Given the description of an element on the screen output the (x, y) to click on. 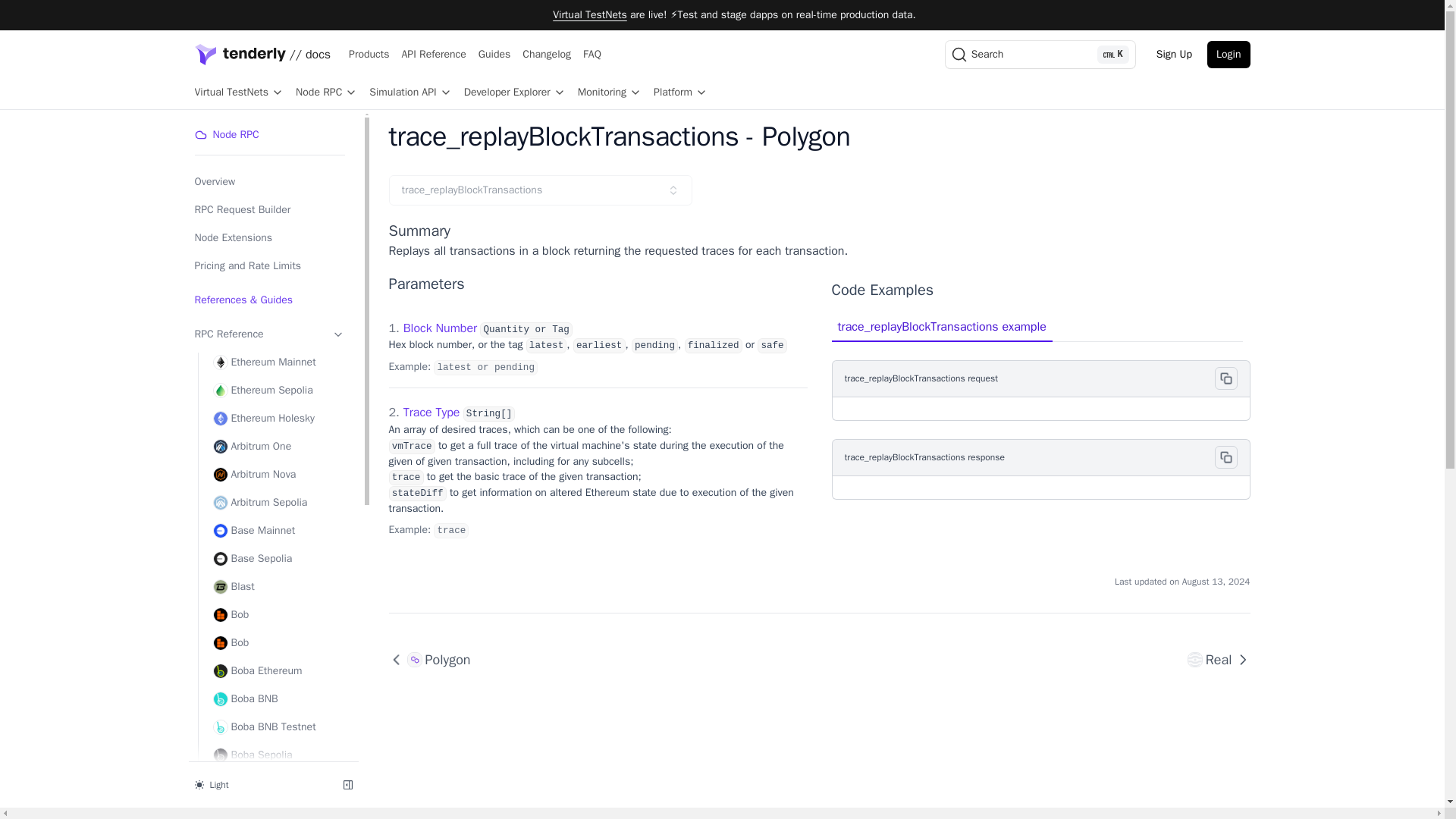
Concrete Testnet (278, 782)
Blast (278, 586)
Changelog (546, 54)
Base Sepolia (278, 558)
Arbitrum Nova (278, 473)
Node RPC (325, 92)
Virtual TestNets (590, 14)
Ethereum Mainnet (278, 361)
Arbitrum One (278, 446)
Bob (278, 642)
